Given the description of an element on the screen output the (x, y) to click on. 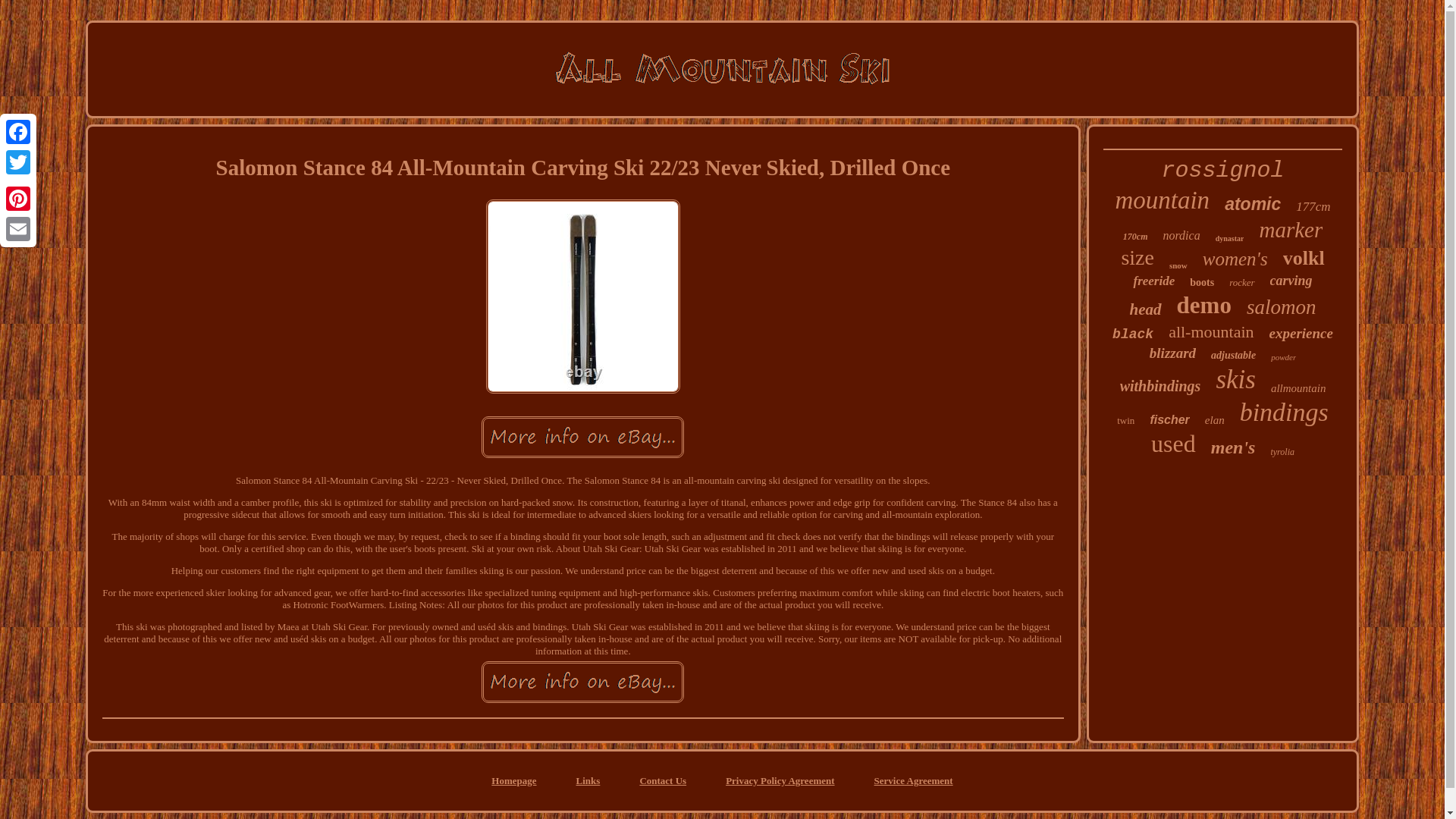
Facebook (17, 132)
Email (17, 228)
rossignol (1222, 170)
rocker (1240, 282)
demo (1203, 305)
marker (1290, 229)
170cm (1135, 236)
experience (1301, 333)
freeride (1153, 281)
women's (1235, 259)
